Given the description of an element on the screen output the (x, y) to click on. 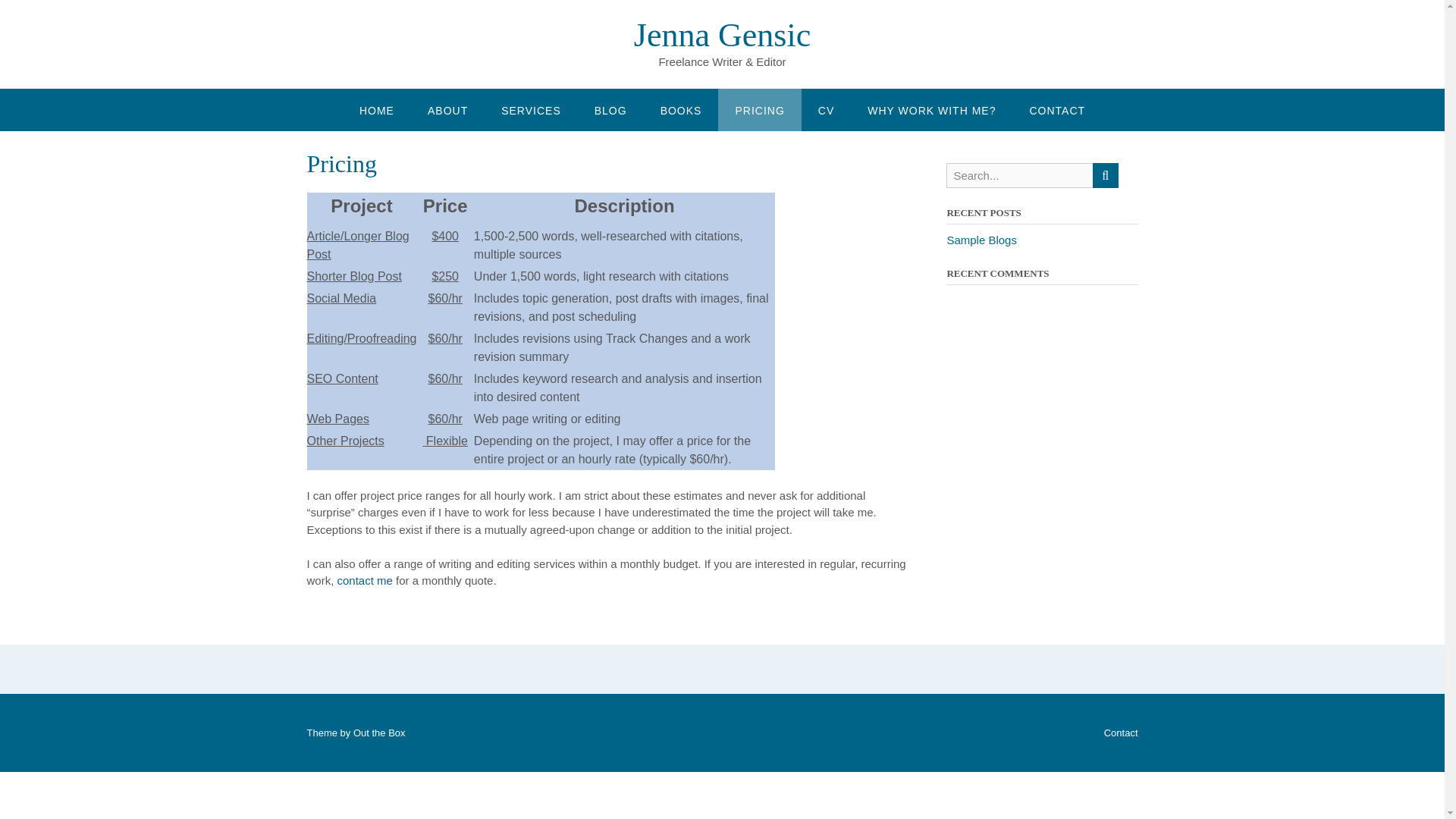
CONTACT (1056, 108)
Jenna Gensic (721, 35)
BOOKS (681, 108)
WHY WORK WITH ME? (930, 108)
ABOUT (447, 108)
CV (826, 108)
HOME (376, 108)
Contact (1118, 732)
contact me (365, 580)
PRICING (758, 108)
